Given the description of an element on the screen output the (x, y) to click on. 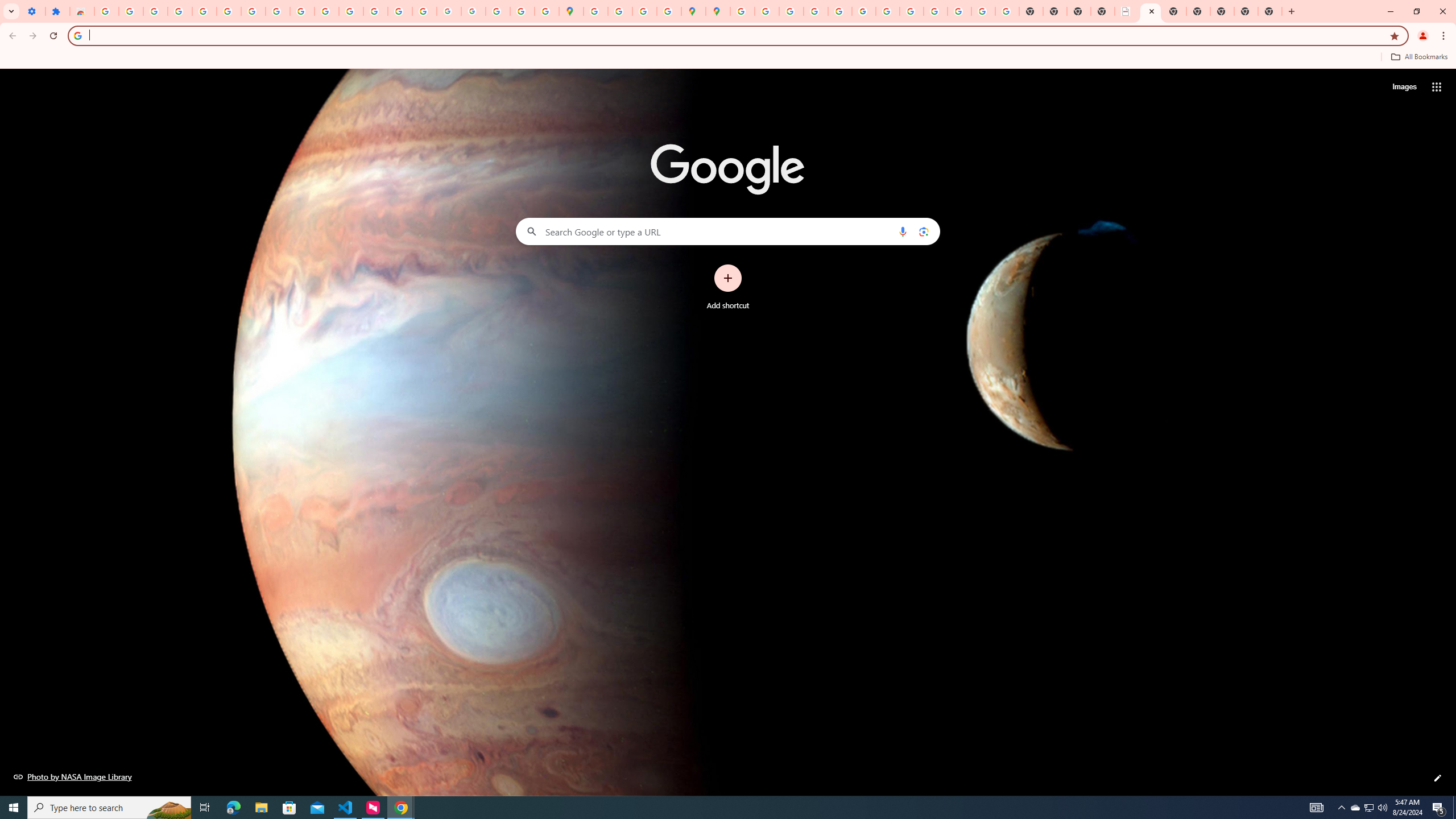
Privacy Help Center - Policies Help (791, 11)
Photo by NASA Image Library (72, 776)
Learn how to find your photos - Google Photos Help (180, 11)
Search Google or type a URL (727, 230)
